Given the description of an element on the screen output the (x, y) to click on. 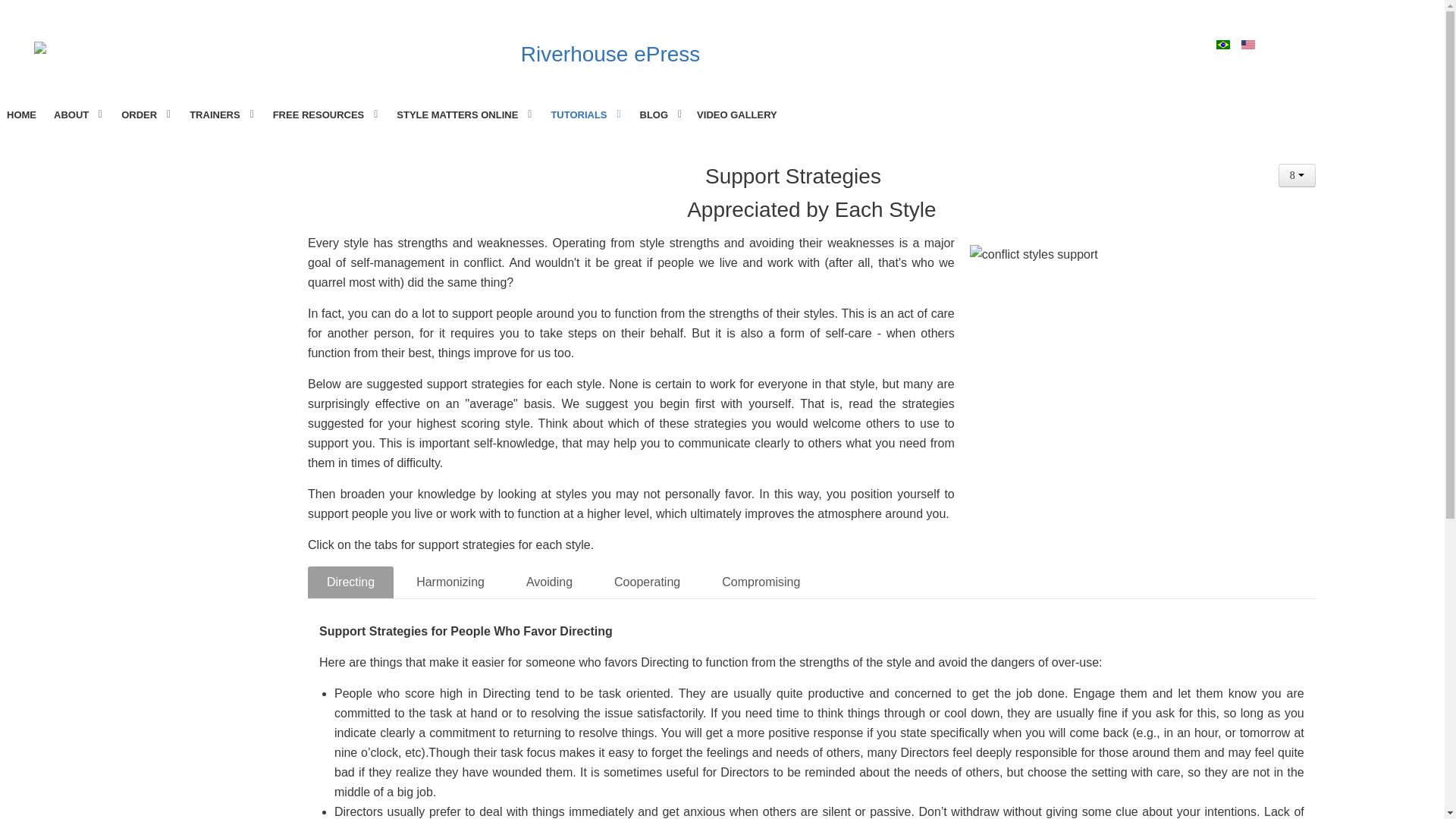
TRAINERS (219, 115)
HOME (21, 115)
ABOUT (76, 115)
STYLE MATTERS ONLINE (462, 115)
ORDER (144, 115)
TUTORIALS (583, 115)
FREE RESOURCES (324, 115)
